Given the description of an element on the screen output the (x, y) to click on. 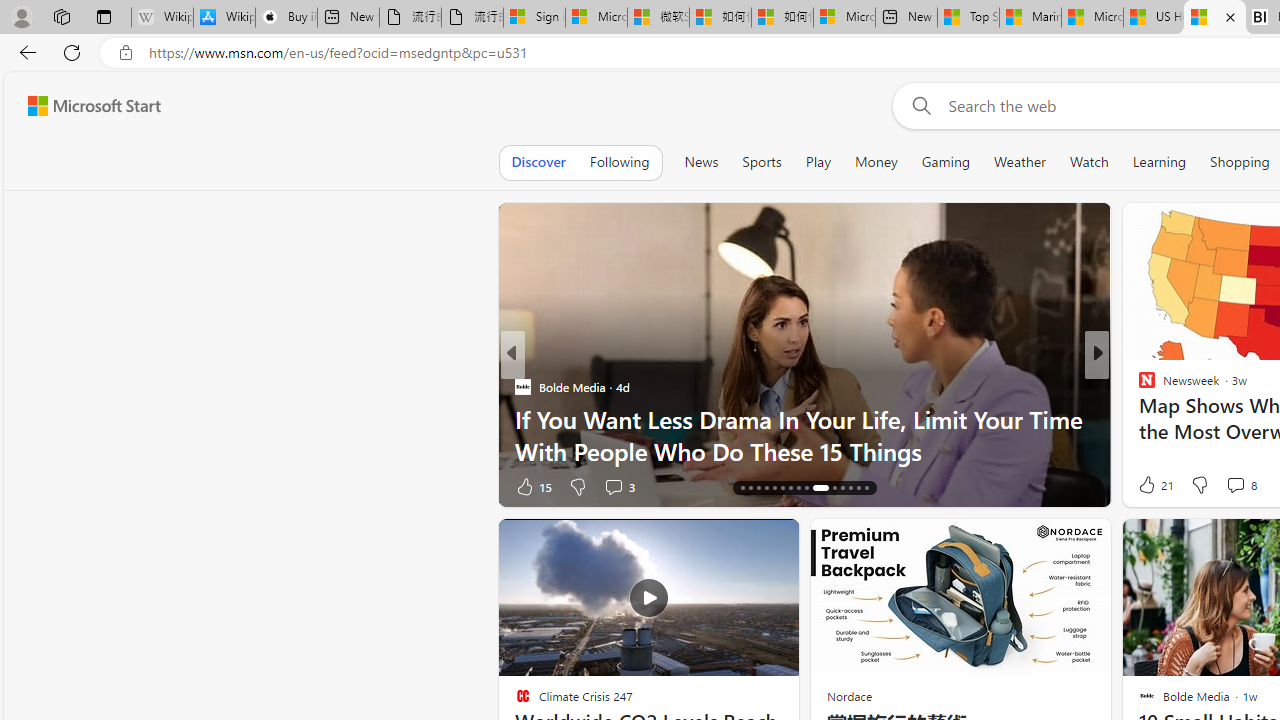
MSNBC (1138, 386)
The Weather Channel (1138, 386)
View comments 8 Comment (1234, 485)
AutomationID: tab-18 (757, 487)
AutomationID: tab-22 (789, 487)
AutomationID: tab-27 (842, 487)
